Given the description of an element on the screen output the (x, y) to click on. 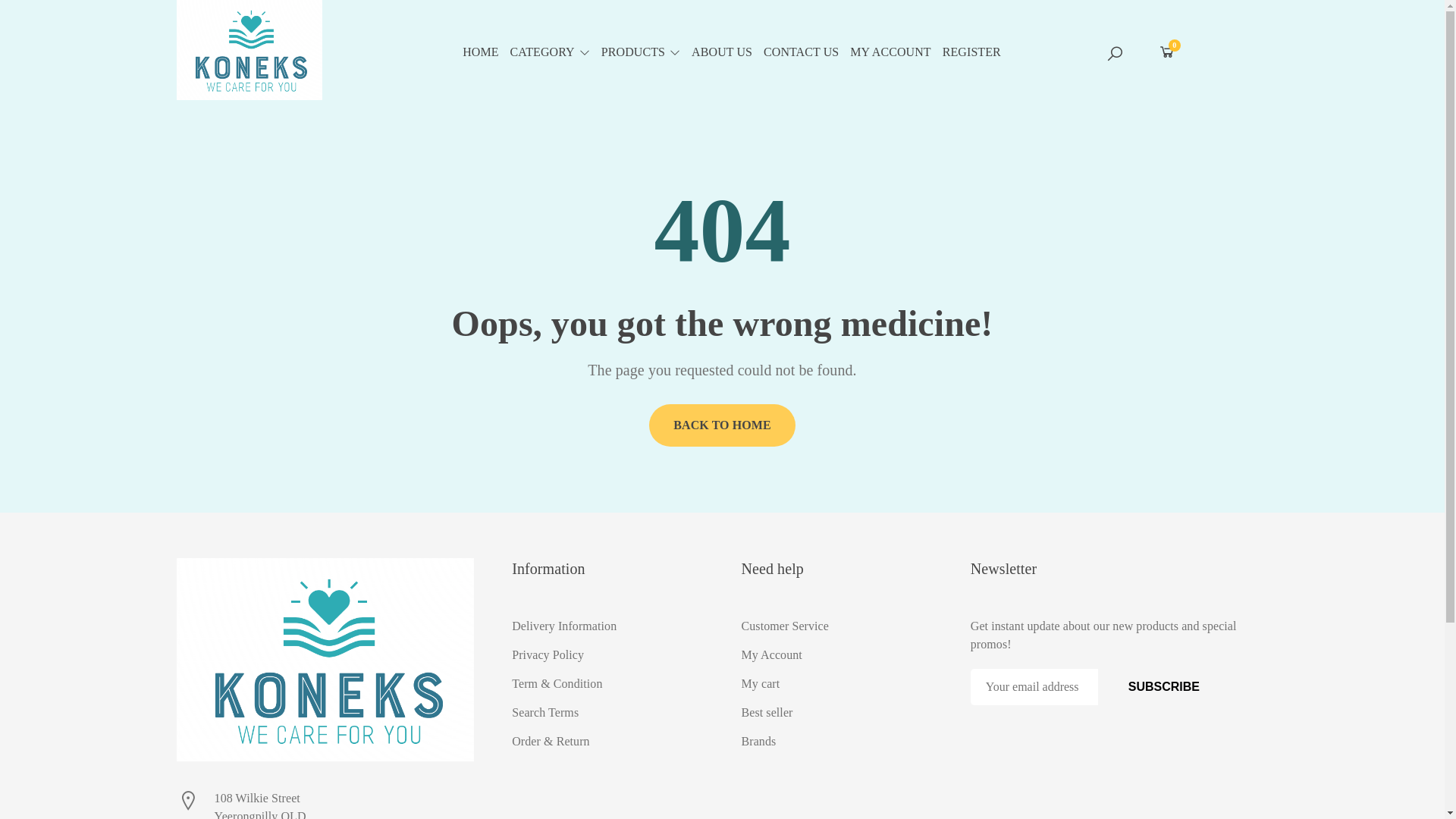
Brands Element type: text (836, 741)
CATEGORY Element type: text (555, 51)
Search Terms Element type: text (606, 712)
Privacy Policy Element type: text (606, 655)
Delivery Information Element type: text (606, 626)
0 Element type: text (1166, 52)
MY ACCOUNT Element type: text (895, 51)
CONTACT US Element type: text (806, 51)
My Account Element type: text (836, 655)
PRODUCTS Element type: text (646, 51)
My cart Element type: text (836, 683)
HOME Element type: text (485, 51)
Best seller Element type: text (836, 712)
Order & Return Element type: text (606, 741)
Customer Service Element type: text (836, 626)
ABOUT US Element type: text (727, 51)
REGISTER Element type: text (977, 51)
Term & Condition Element type: text (606, 683)
BACK TO HOME Element type: text (721, 425)
